Given the description of an element on the screen output the (x, y) to click on. 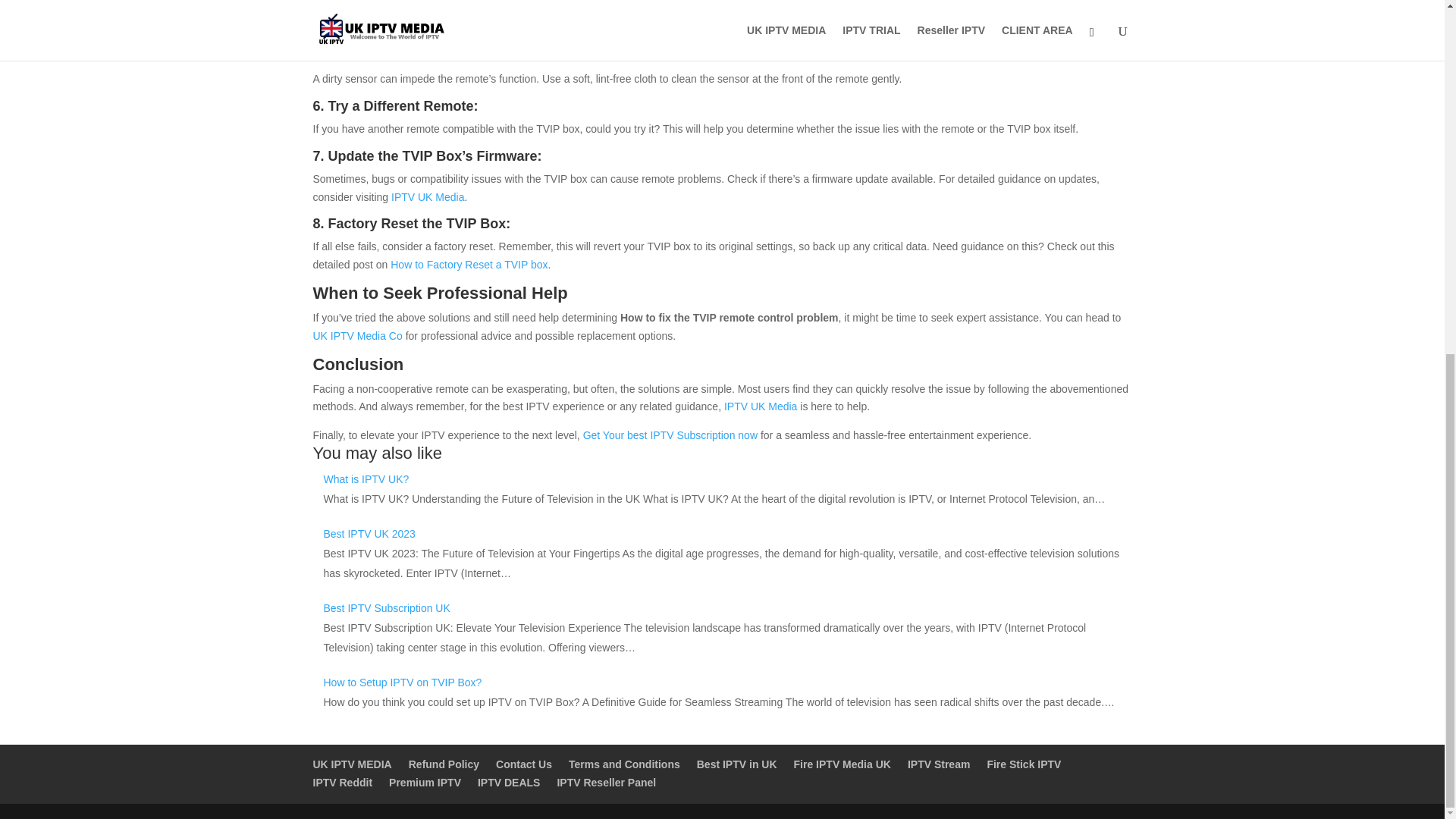
What is IPTV UK? (366, 479)
IPTV Reddit (342, 782)
IPTV Reseller Panel (606, 782)
Terms and Conditions (624, 764)
IPTV Stream (938, 764)
IPTV DEALS (508, 782)
How to Factory Reset a TVIP box (468, 264)
IPTV UK Media (759, 406)
Get Your best IPTV Subscription now (670, 435)
Best IPTV in UK (737, 764)
